Given the description of an element on the screen output the (x, y) to click on. 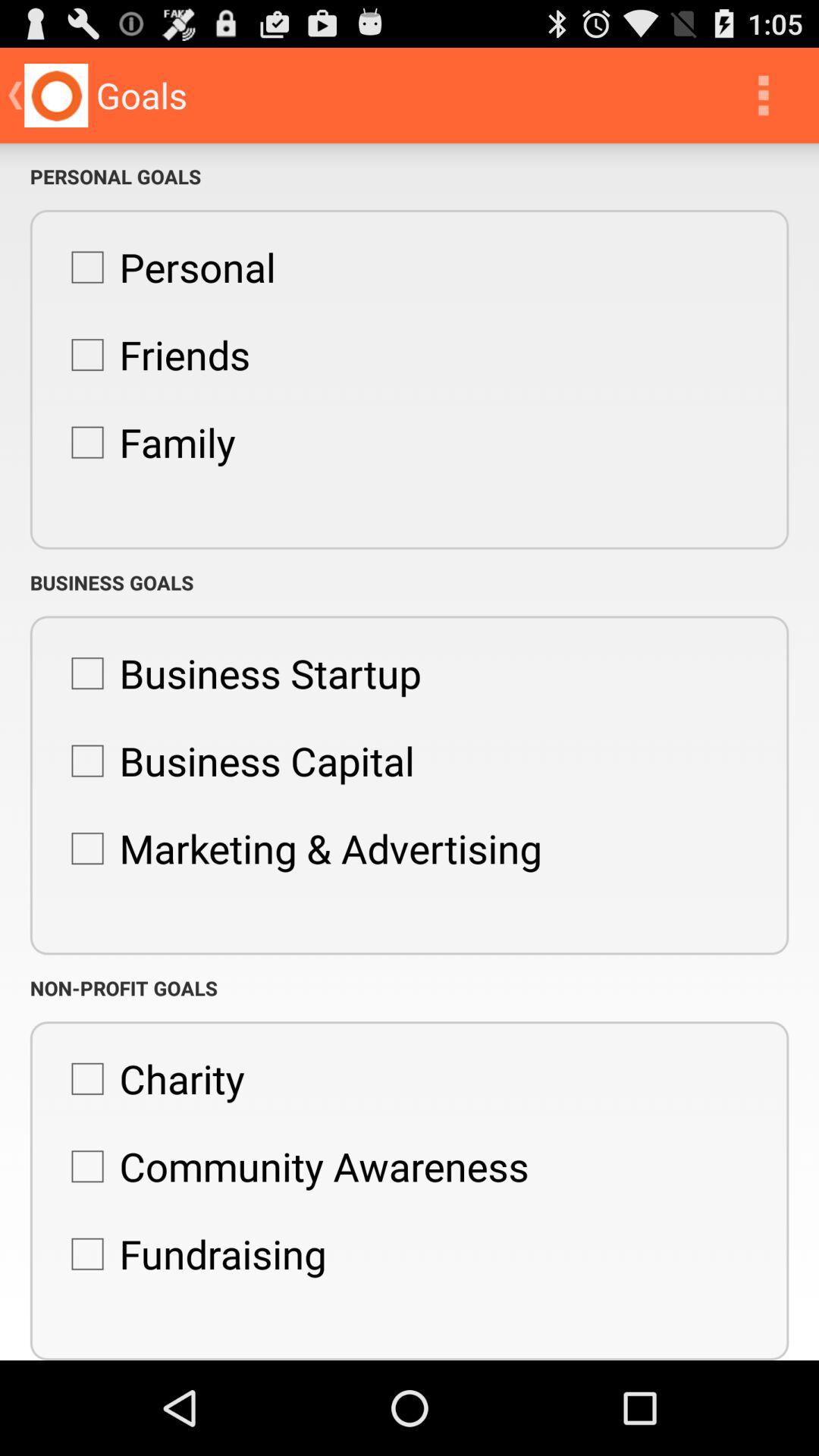
select icon above the marketing & advertising item (234, 760)
